Given the description of an element on the screen output the (x, y) to click on. 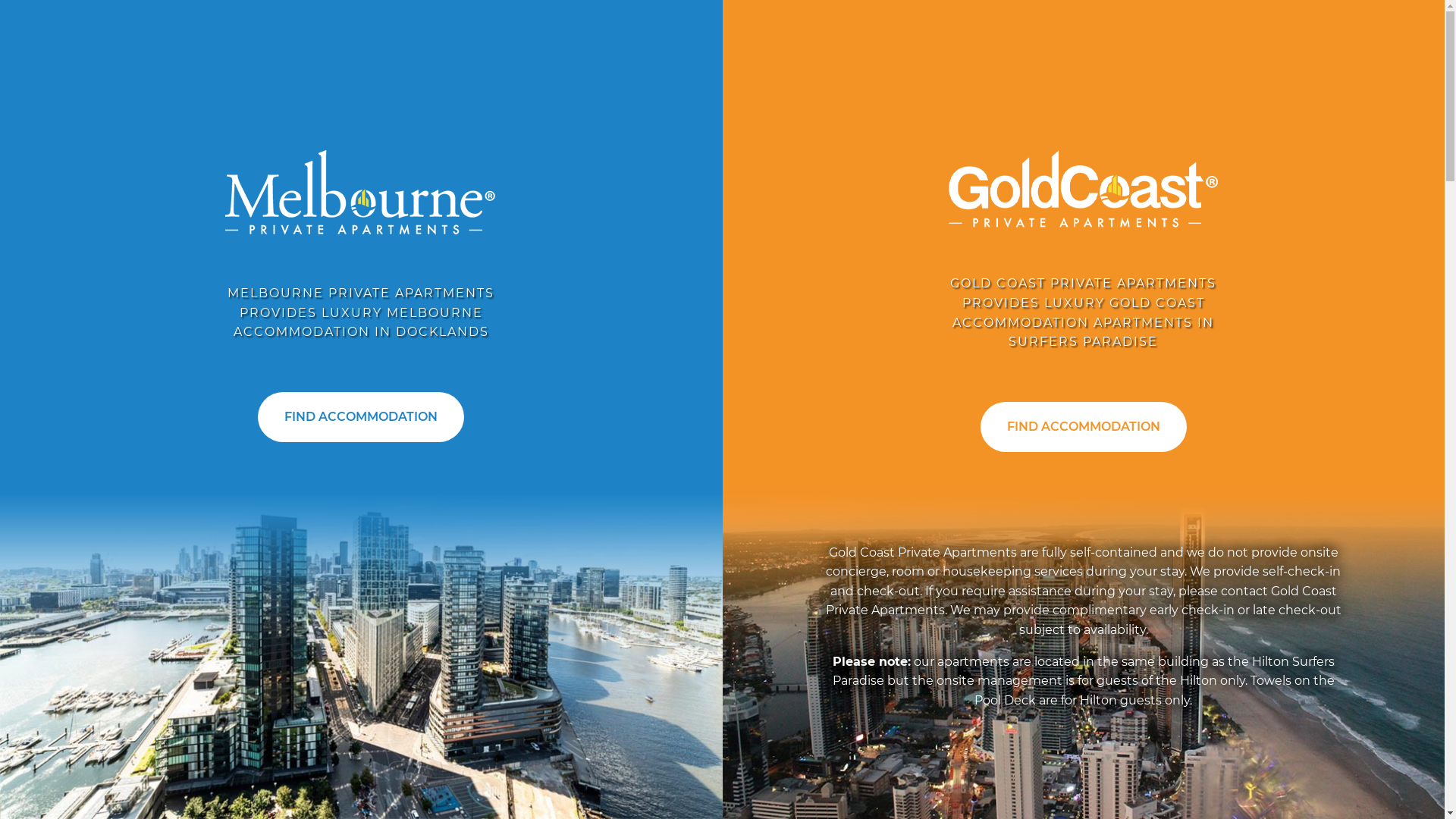
FIND ACCOMMODATION Element type: text (1083, 426)
FIND ACCOMMODATION Element type: text (360, 417)
